Given the description of an element on the screen output the (x, y) to click on. 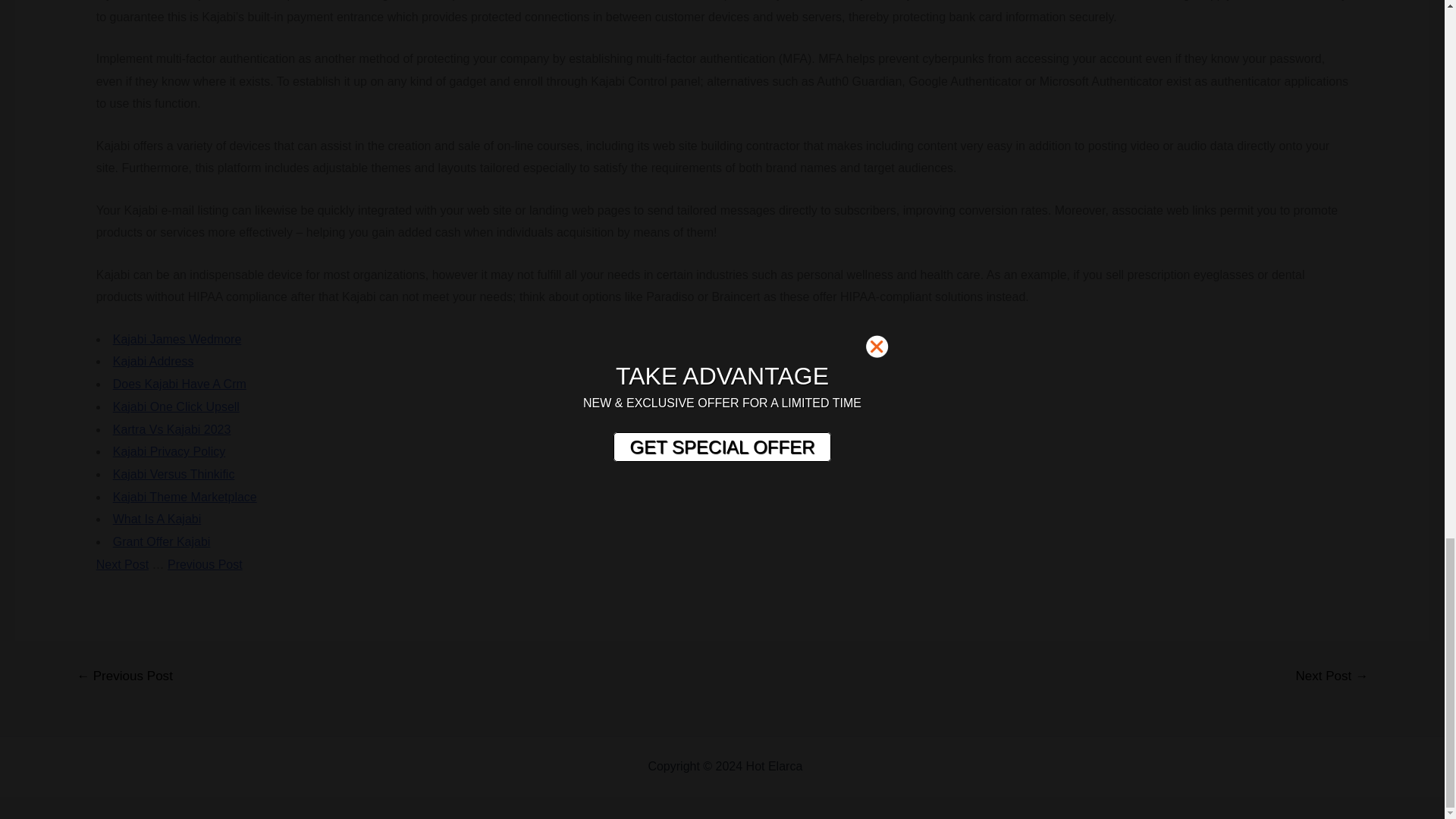
Kajabi Privacy Policy (169, 451)
What Is A Kajabi (157, 518)
Kajabi Versus Thinkific (173, 473)
Does Kajabi Have A Crm (179, 383)
Kajabi James Wedmore (177, 338)
Kartra Vs Kajabi 2023 (172, 429)
Kajabi Address (153, 360)
Kajabi Theme Marketplace (185, 496)
Does Kajabi Have A Crm (179, 383)
Kajabi One Click Upsell (176, 406)
